Given the description of an element on the screen output the (x, y) to click on. 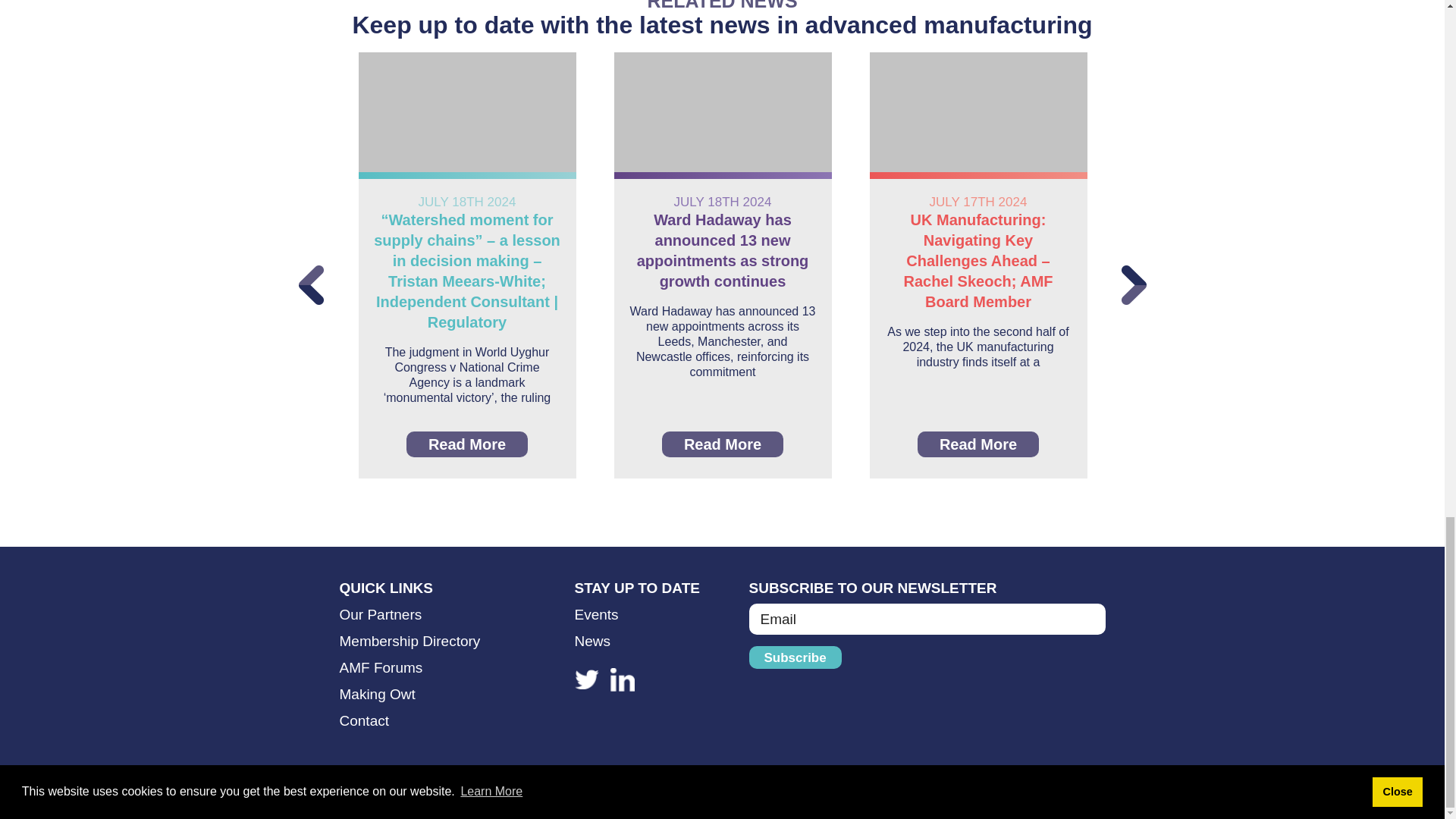
Subscribe (795, 657)
